Given the description of an element on the screen output the (x, y) to click on. 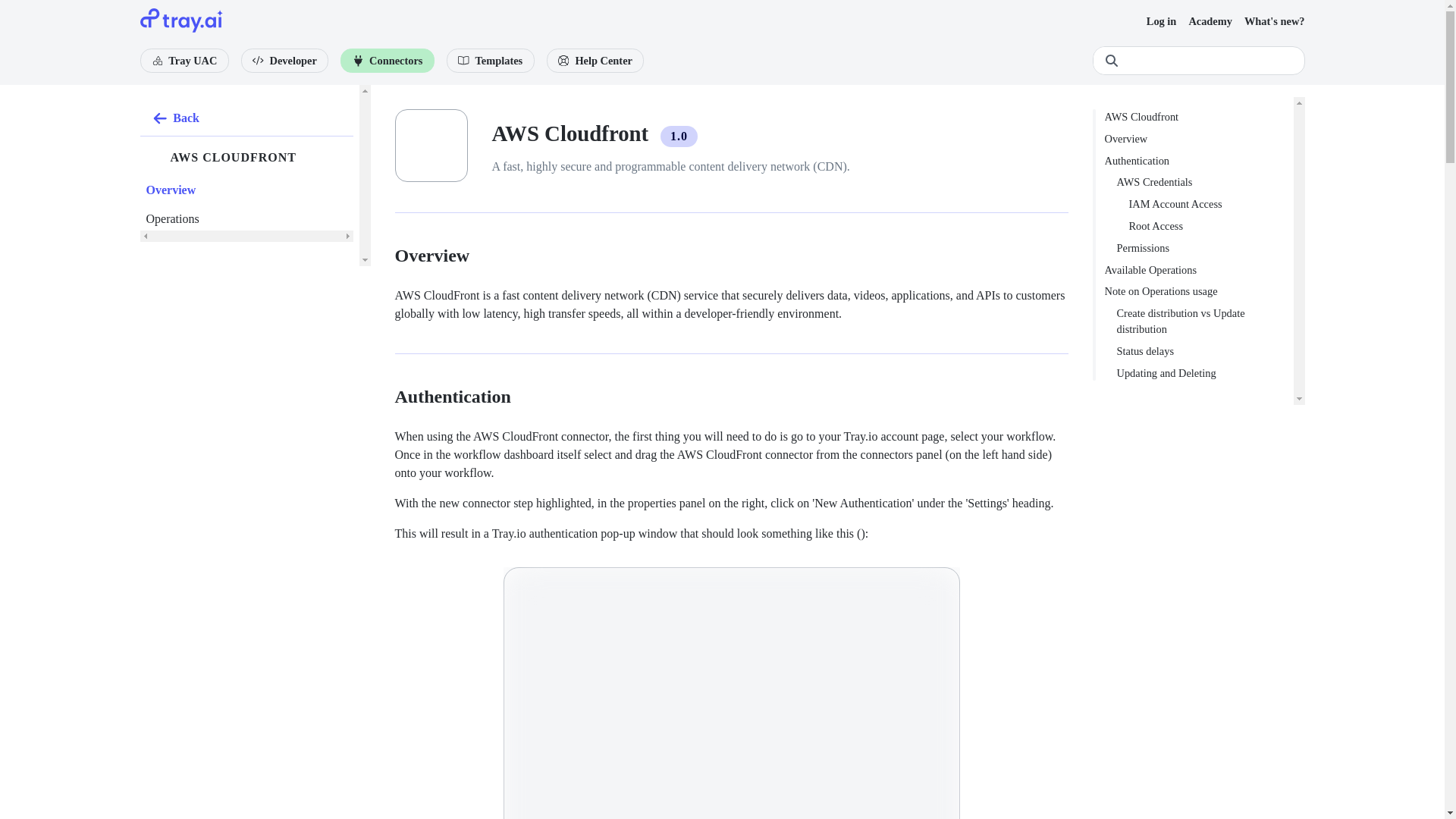
IAM Account Access (1197, 204)
Overview (1197, 139)
Academy (1209, 21)
Root Access (1197, 226)
Status delays (1197, 351)
IAM Account Access (1197, 204)
AWS Credentials (1197, 182)
Help Center (596, 60)
Overview (170, 190)
Operations (172, 219)
Permissions (1197, 248)
Overview (1197, 139)
AWS Cloudfront (1197, 116)
Authentication (1197, 160)
Note on Operations usage (1197, 291)
